Given the description of an element on the screen output the (x, y) to click on. 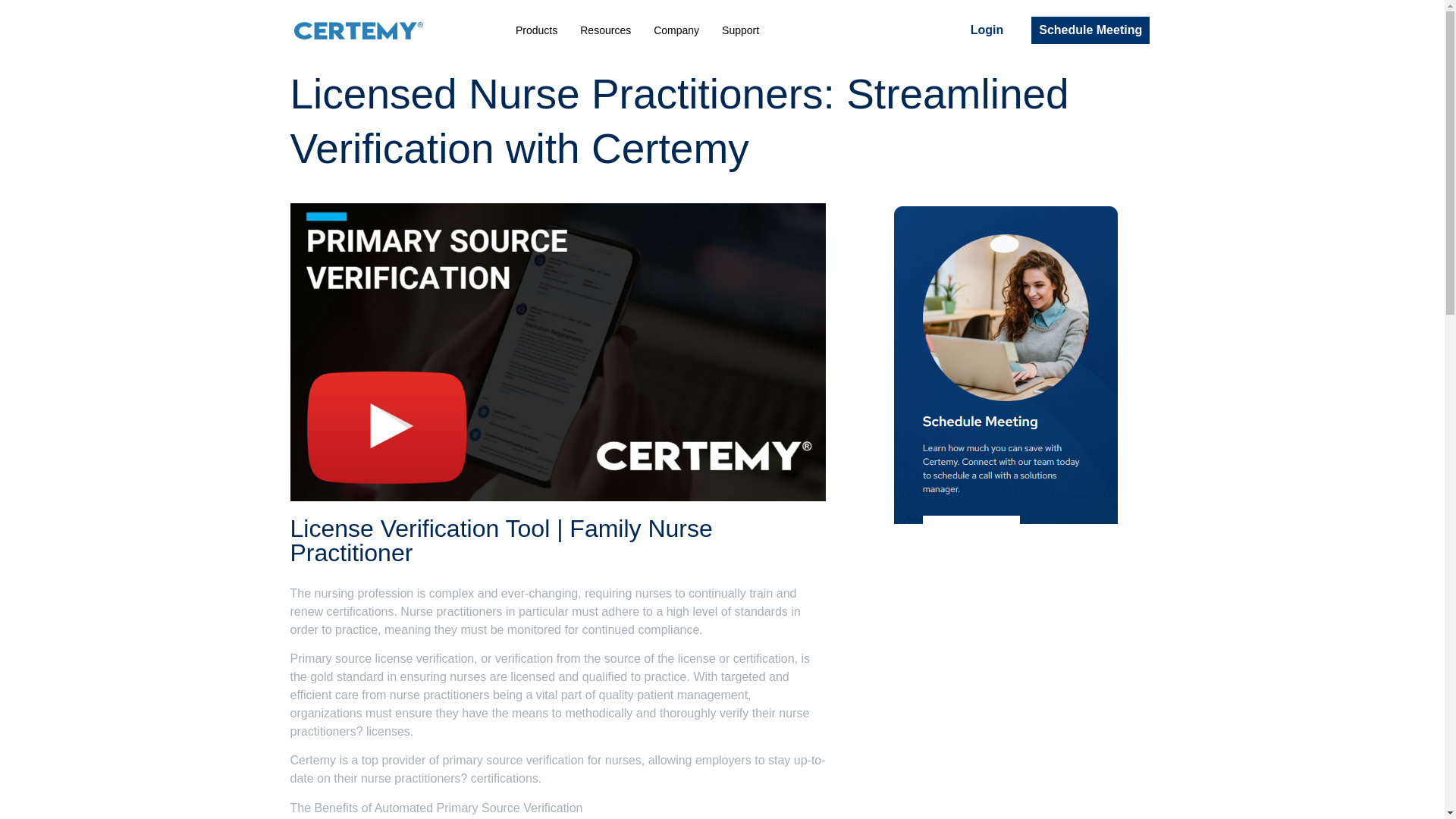
Company (676, 30)
Products (536, 30)
Login (986, 30)
Resources (605, 30)
Schedule Meeting (1090, 30)
Support (740, 30)
